Given the description of an element on the screen output the (x, y) to click on. 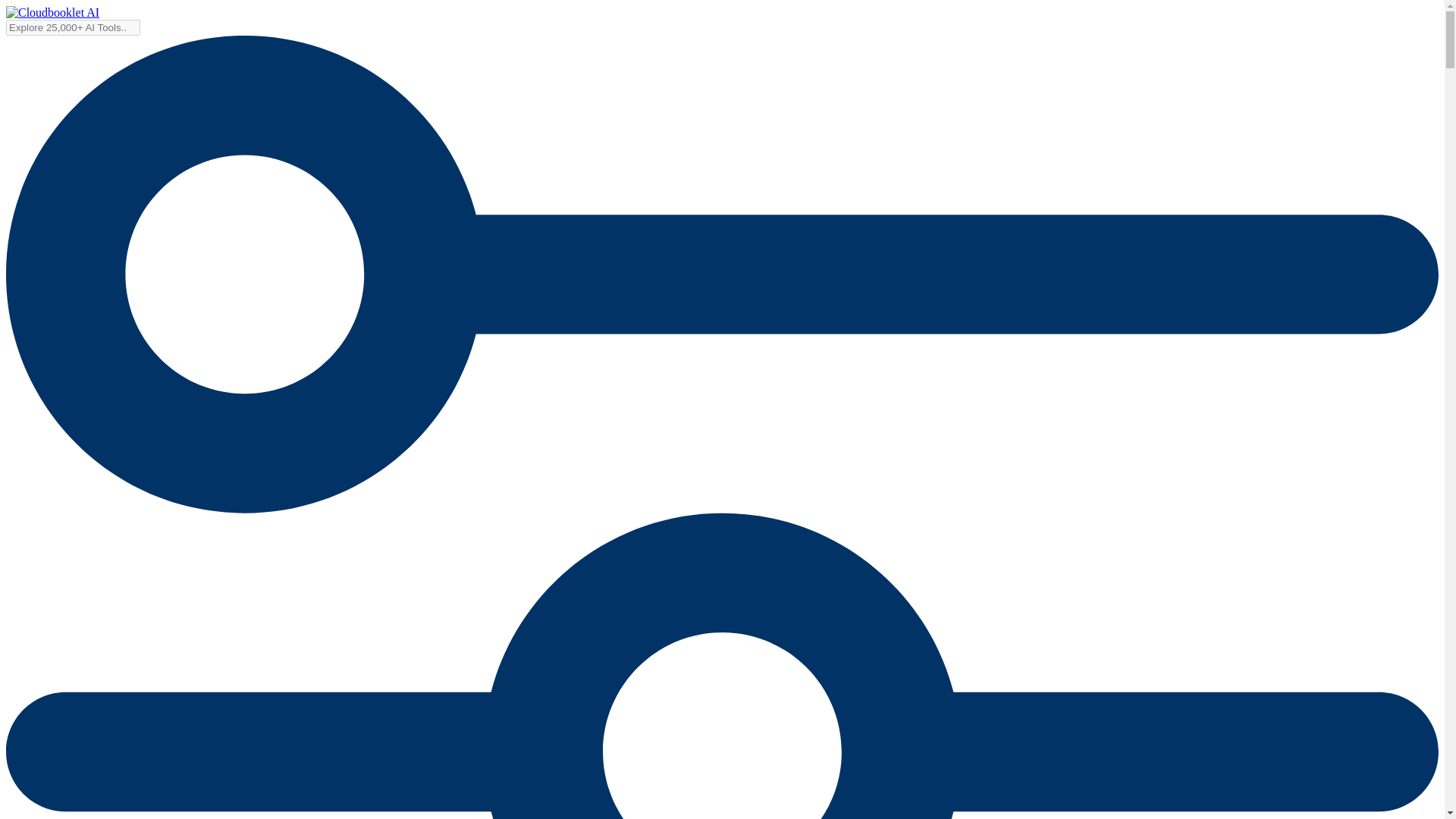
Cloudbooklet AI (52, 11)
